Given the description of an element on the screen output the (x, y) to click on. 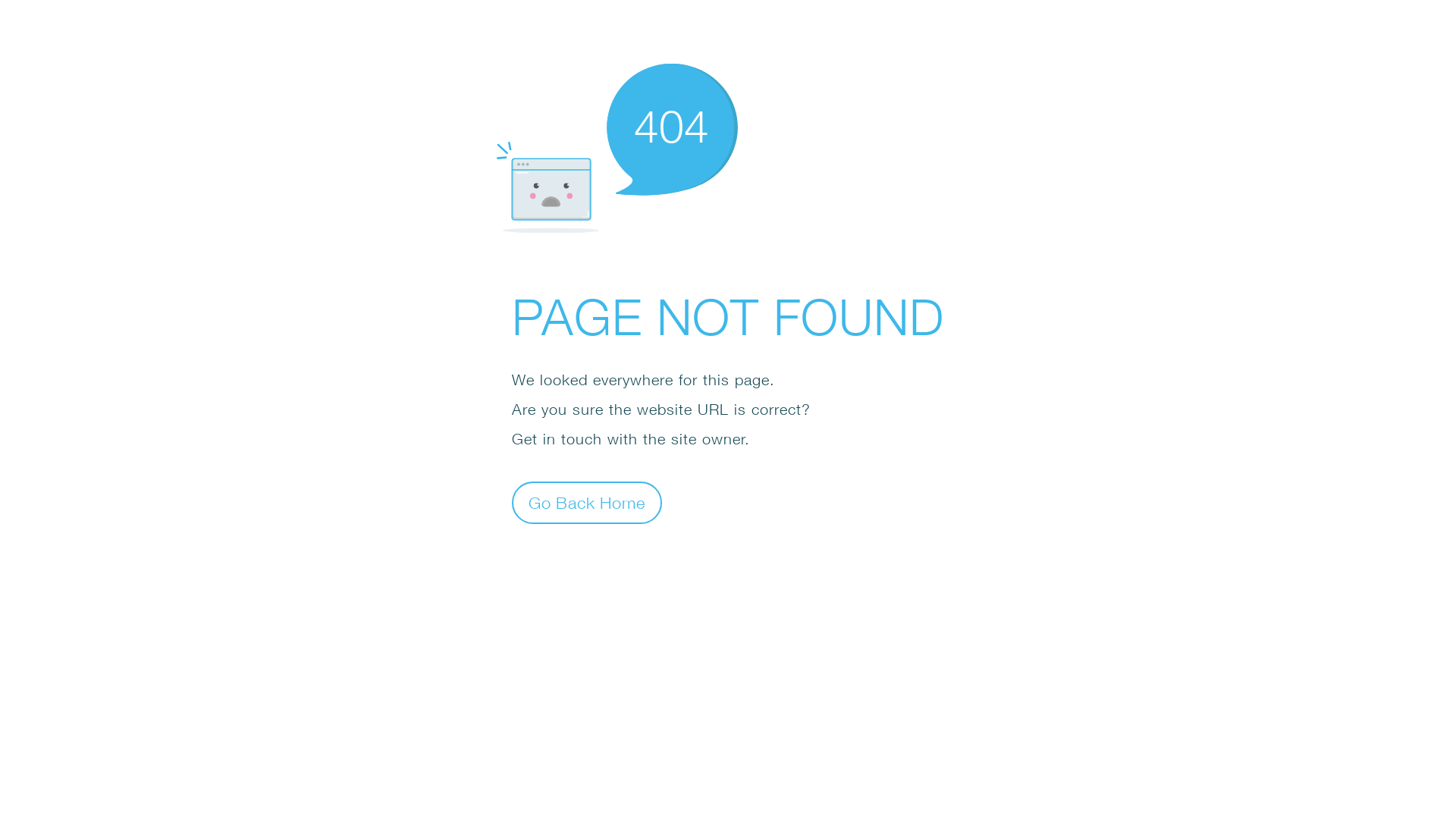
Go Back Home Element type: text (586, 502)
